Given the description of an element on the screen output the (x, y) to click on. 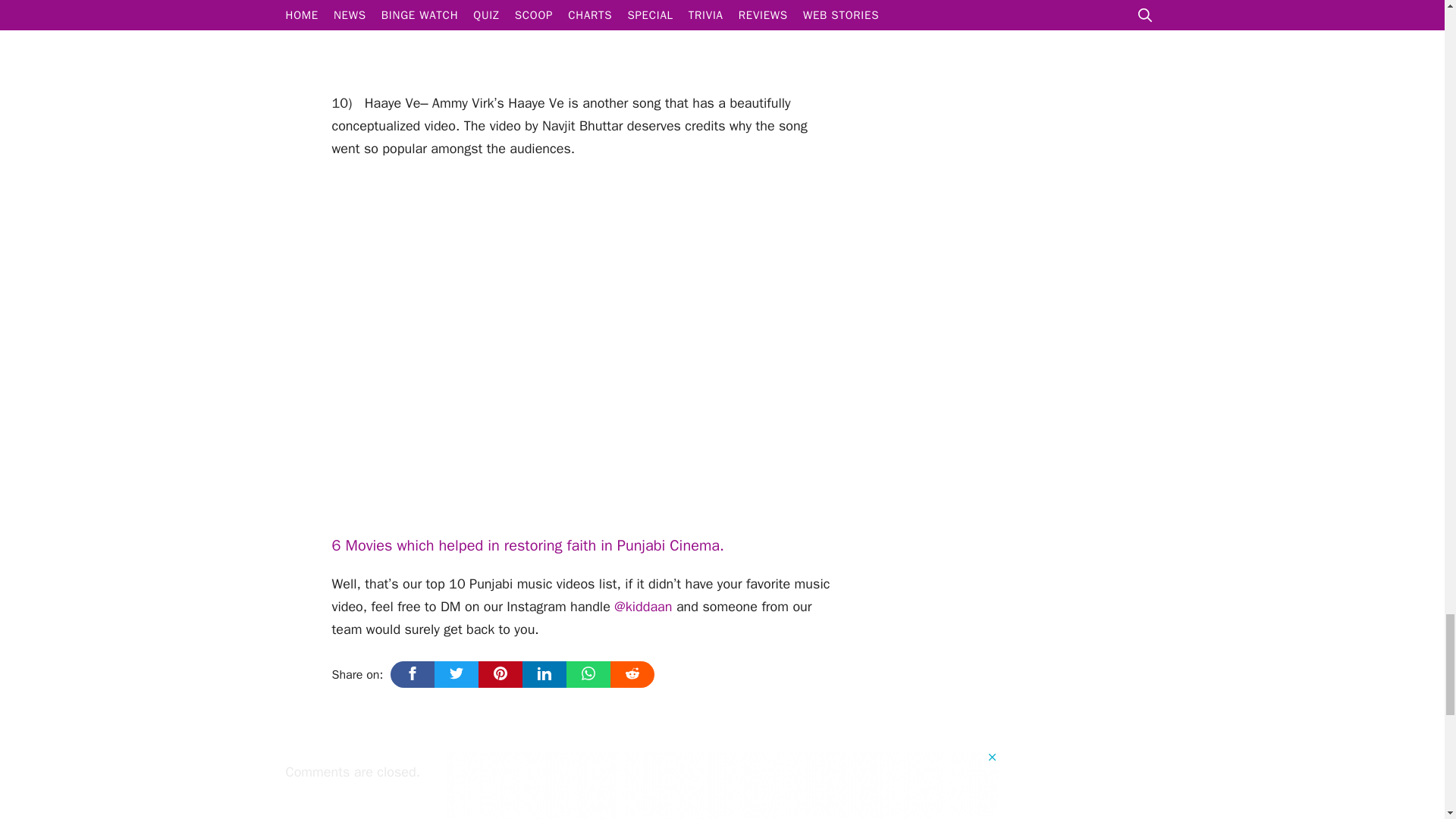
6 Movies which helped in restoring faith in Punjabi Cinema. (528, 545)
